Given the description of an element on the screen output the (x, y) to click on. 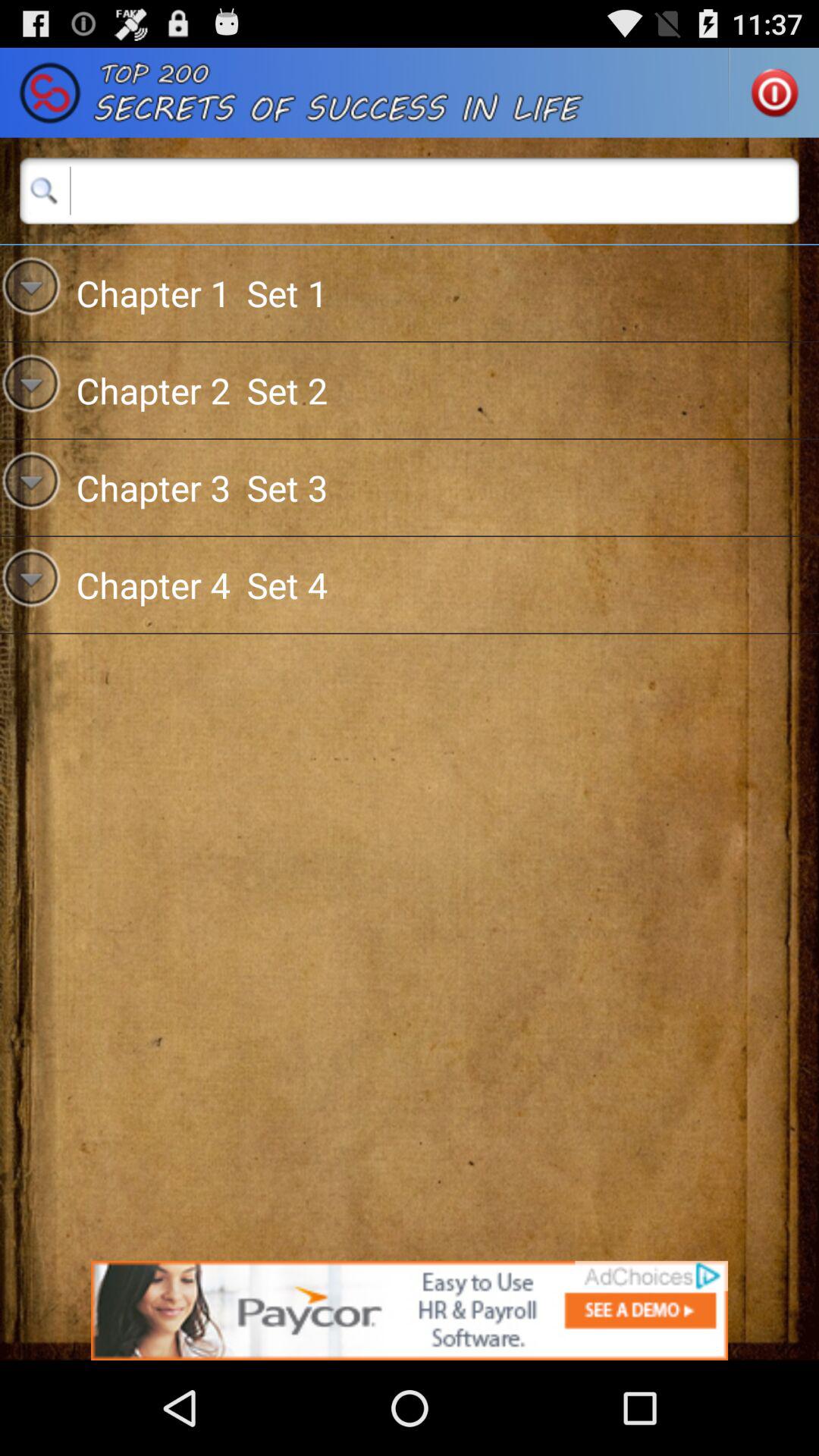
visit advertisement (409, 1310)
